Given the description of an element on the screen output the (x, y) to click on. 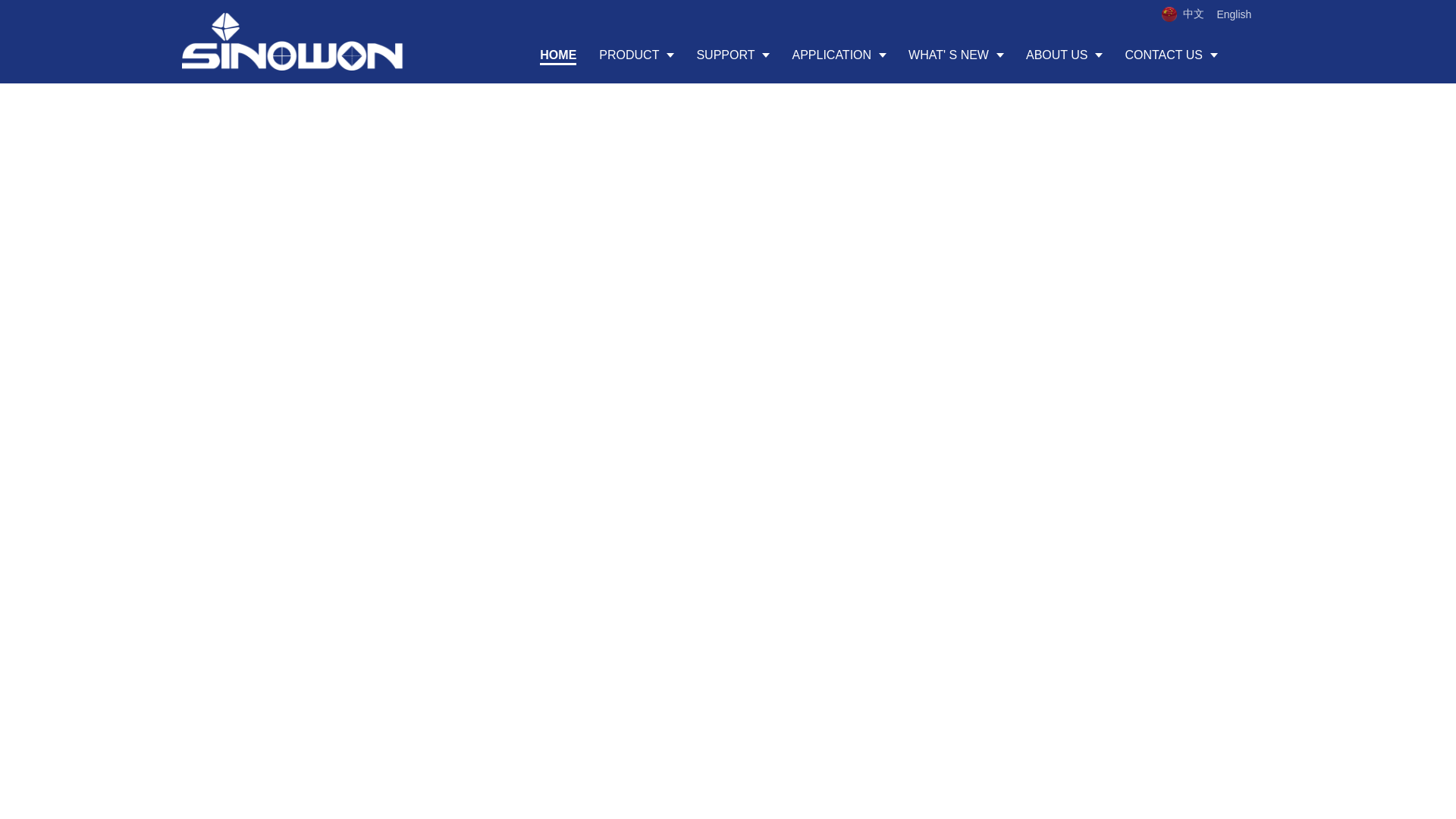
PRODUCT (636, 55)
HOME (558, 55)
SUPPORT (732, 55)
